Given the description of an element on the screen output the (x, y) to click on. 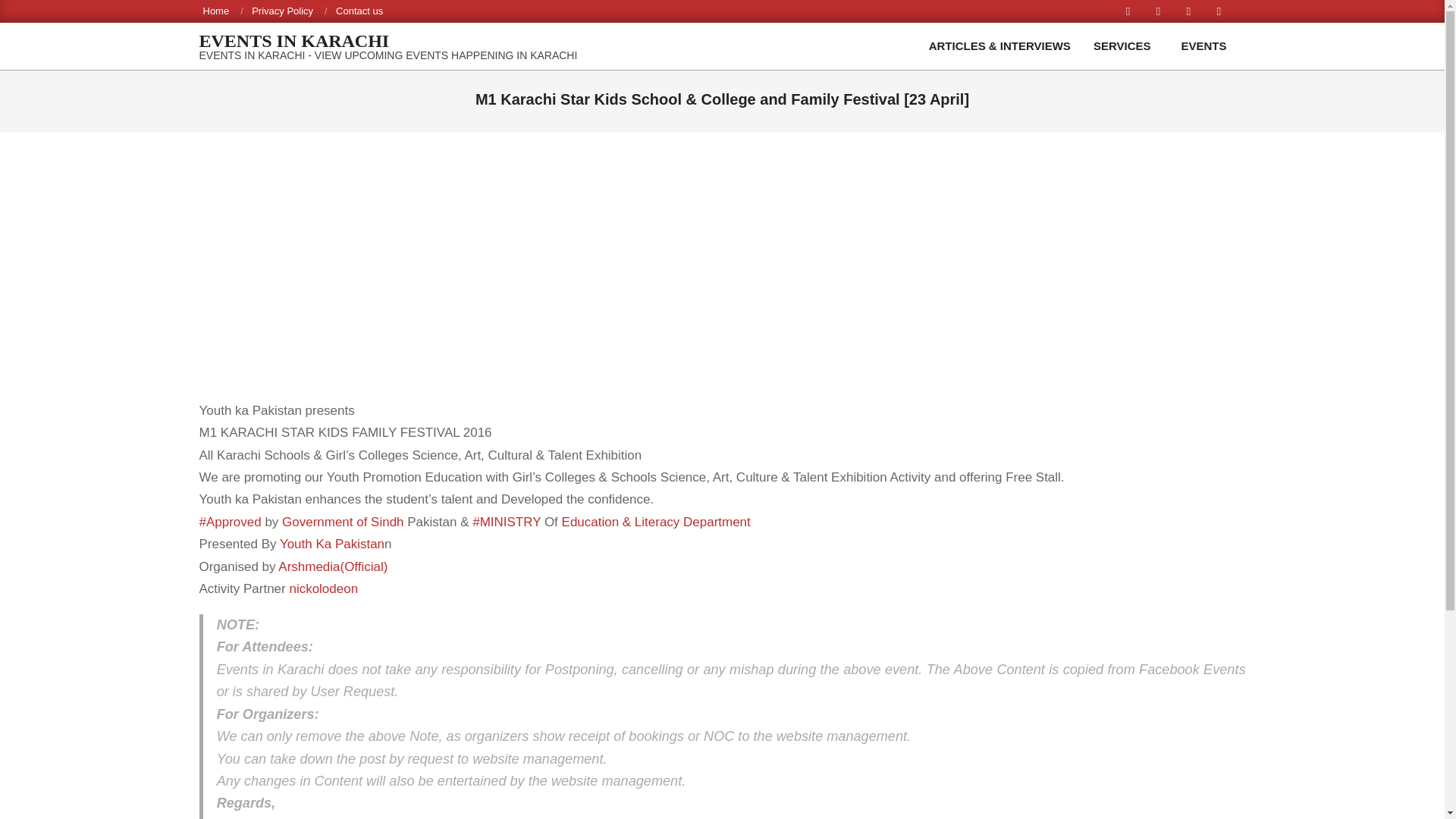
EVENTS (1206, 46)
Home (216, 9)
Contact us (359, 9)
Government of Sindh (343, 522)
Privacy Policy (282, 9)
SERVICES (1125, 46)
nickolodeon (323, 588)
Youth Ka Pakistan (331, 544)
EVENTS IN KARACHI (387, 40)
